Given the description of an element on the screen output the (x, y) to click on. 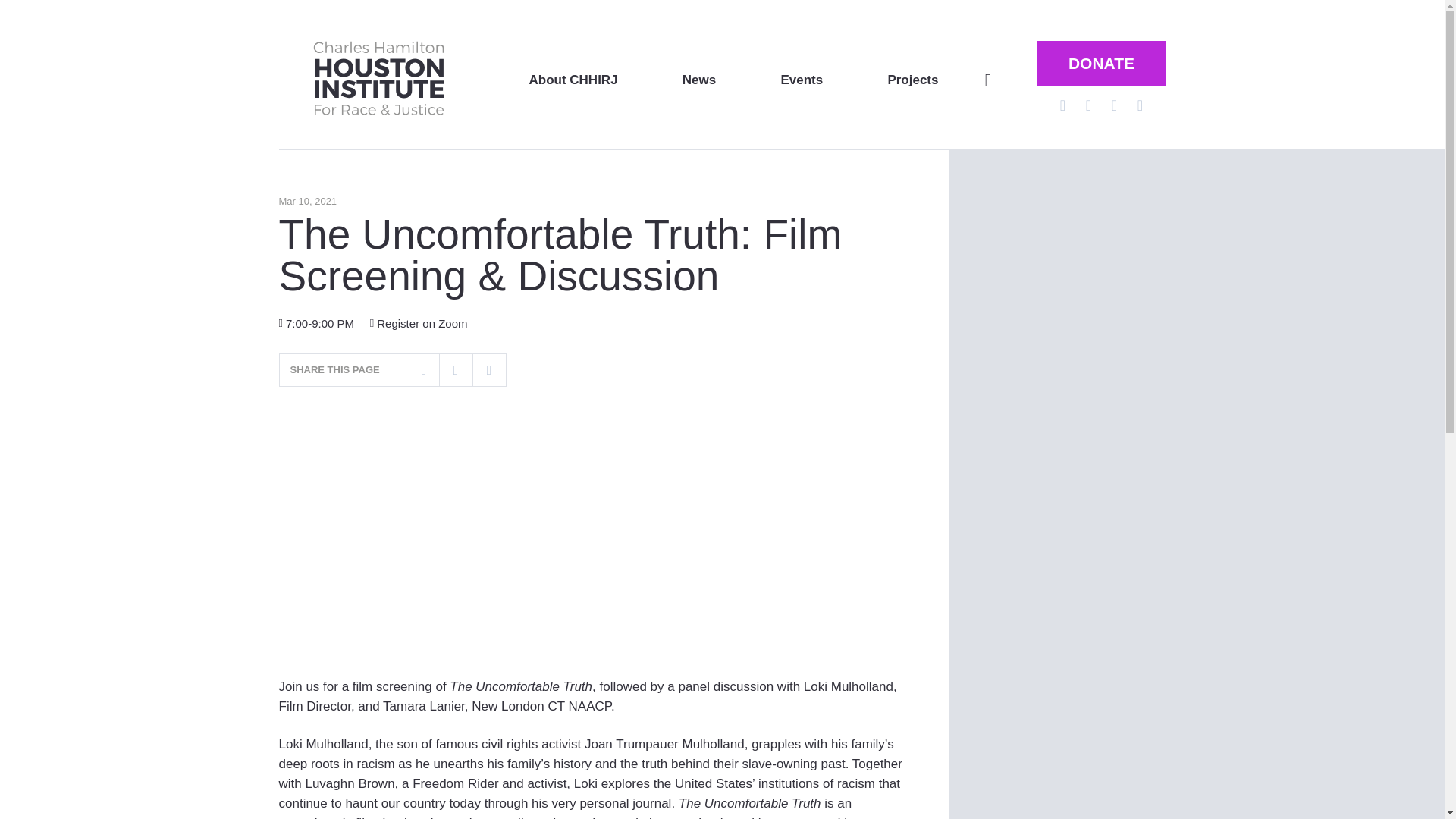
News (699, 80)
YouTube (1113, 105)
Projects (911, 80)
Medium (1139, 105)
Events (801, 80)
DONATE (1101, 63)
Twitter (1062, 105)
YouTube video player (491, 533)
Facebook (1087, 105)
About CHHIRJ (573, 80)
